Given the description of an element on the screen output the (x, y) to click on. 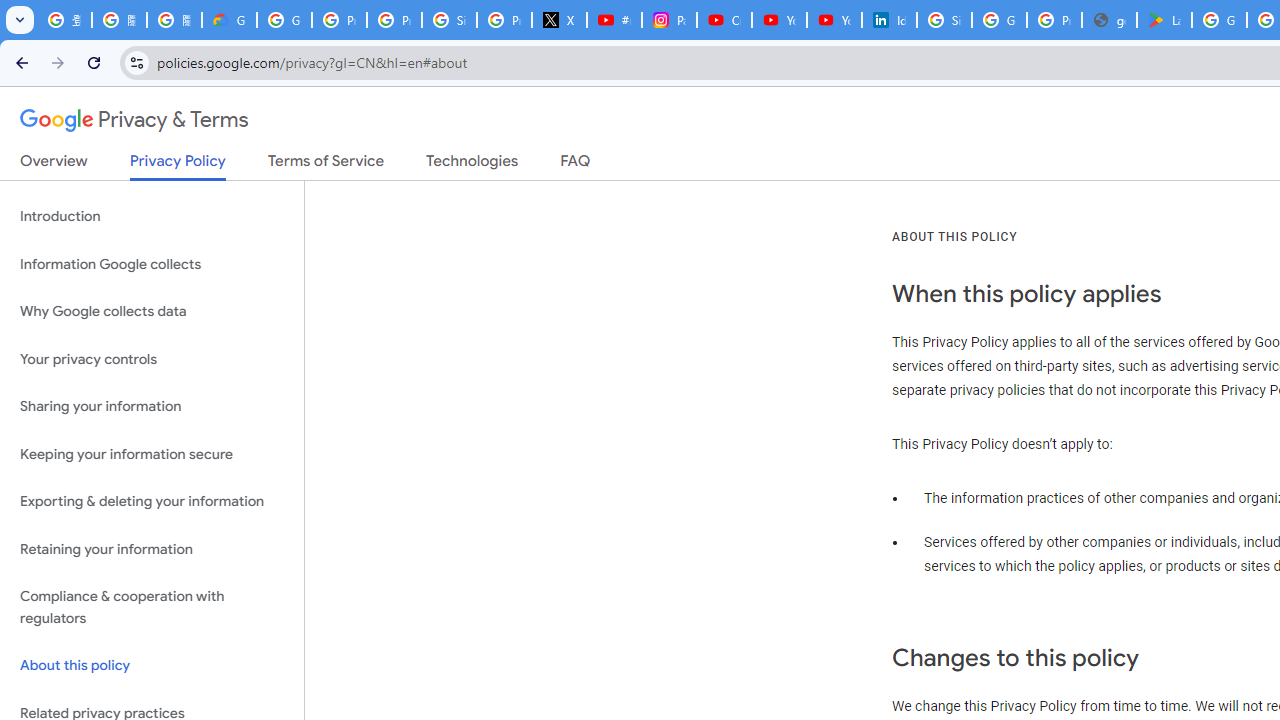
#nbabasketballhighlights - YouTube (614, 20)
Last Shelter: Survival - Apps on Google Play (1163, 20)
Introduction (152, 216)
Privacy & Terms (134, 120)
Sign in - Google Accounts (449, 20)
